Given the description of an element on the screen output the (x, y) to click on. 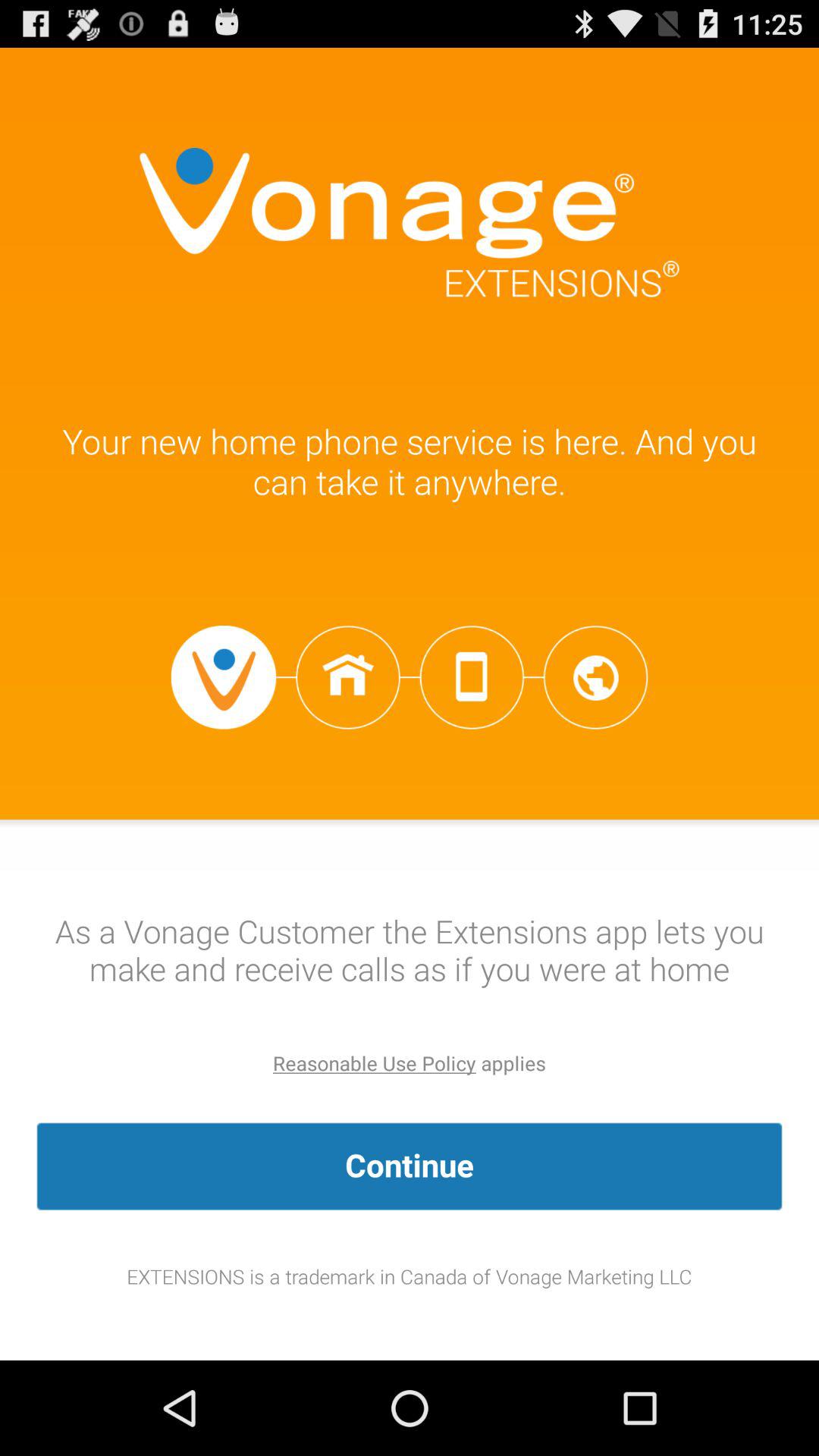
choose the item below the as a vonage item (374, 1062)
